Given the description of an element on the screen output the (x, y) to click on. 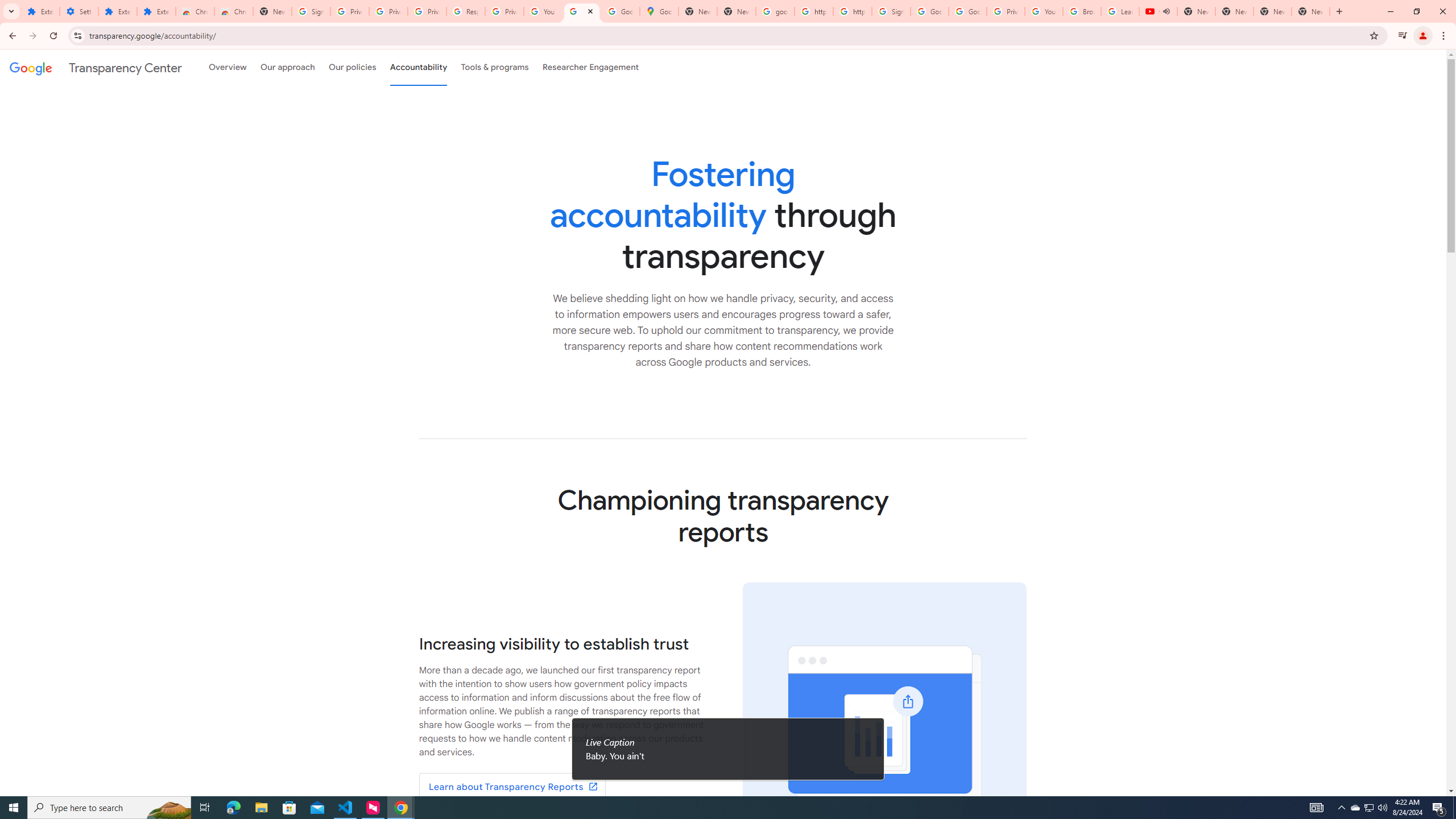
Extensions (156, 11)
Transparency Center (95, 67)
New Tab (272, 11)
https://scholar.google.com/ (852, 11)
Our policies (351, 67)
Policy Accountability and Transparency - Transparency Center (581, 11)
Google Maps (659, 11)
